Given the description of an element on the screen output the (x, y) to click on. 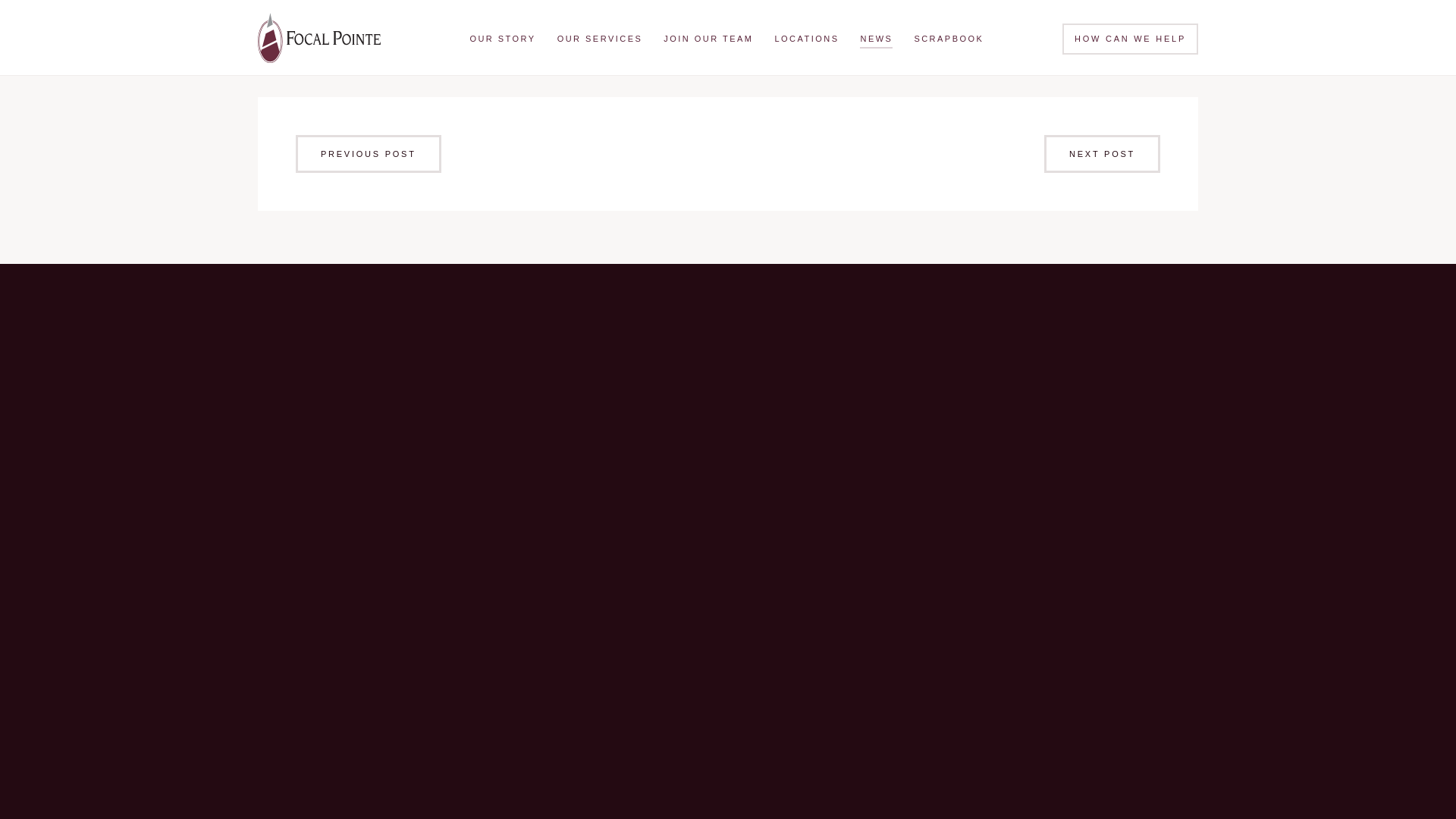
NEXT POST (1101, 153)
PREVIOUS POST (368, 153)
